Given the description of an element on the screen output the (x, y) to click on. 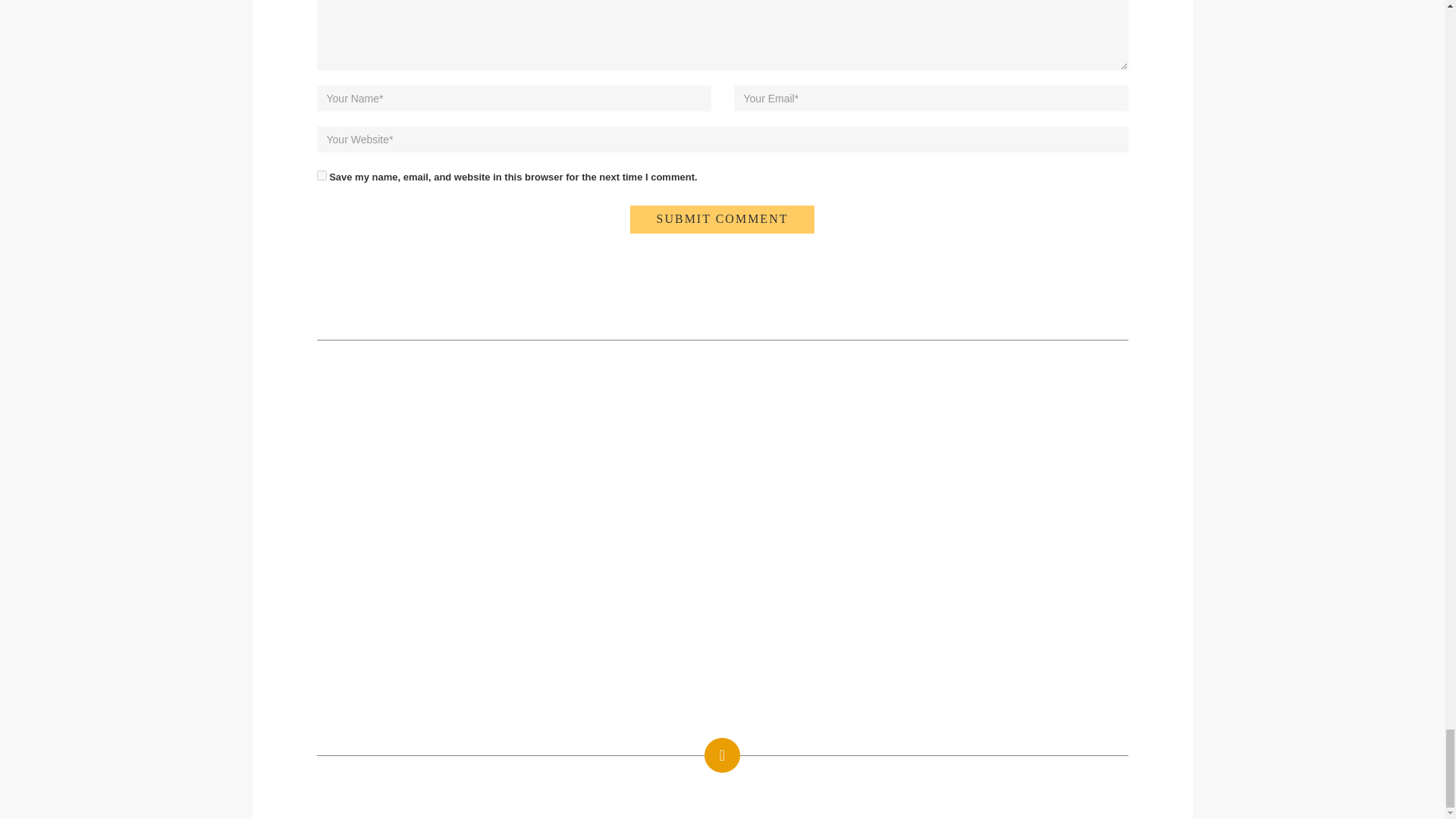
Submit Comment (722, 219)
yes (321, 175)
